Given the description of an element on the screen output the (x, y) to click on. 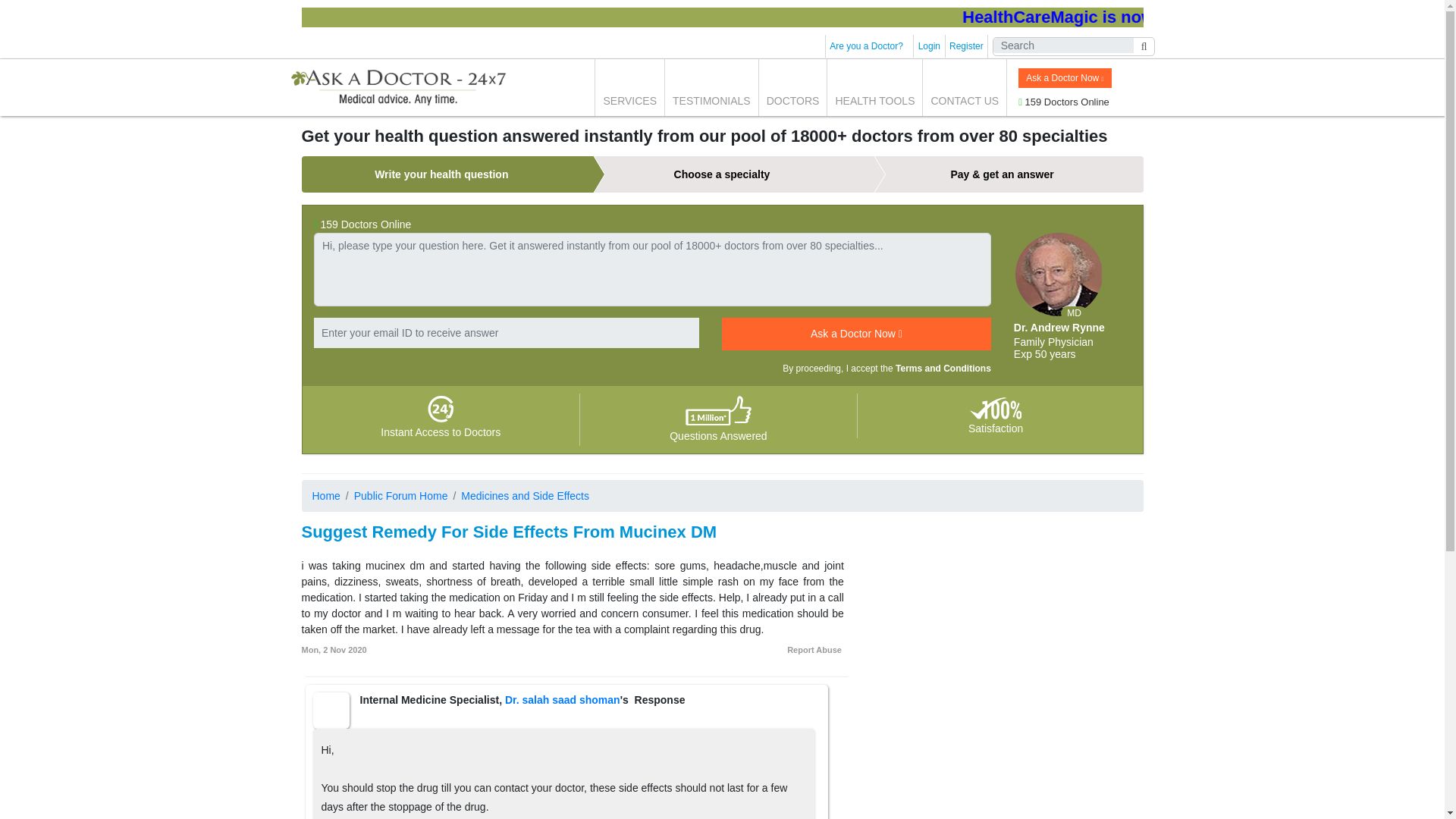
TESTIMONIALS (711, 87)
Terms and Conditions (943, 368)
Register (966, 45)
Choose a specialty (720, 174)
SERVICES (629, 87)
DOCTORS (792, 87)
HEALTH TOOLS (874, 87)
Ask a Doctor 24x7 (397, 87)
Login (929, 45)
Report as abuse (814, 649)
